Given the description of an element on the screen output the (x, y) to click on. 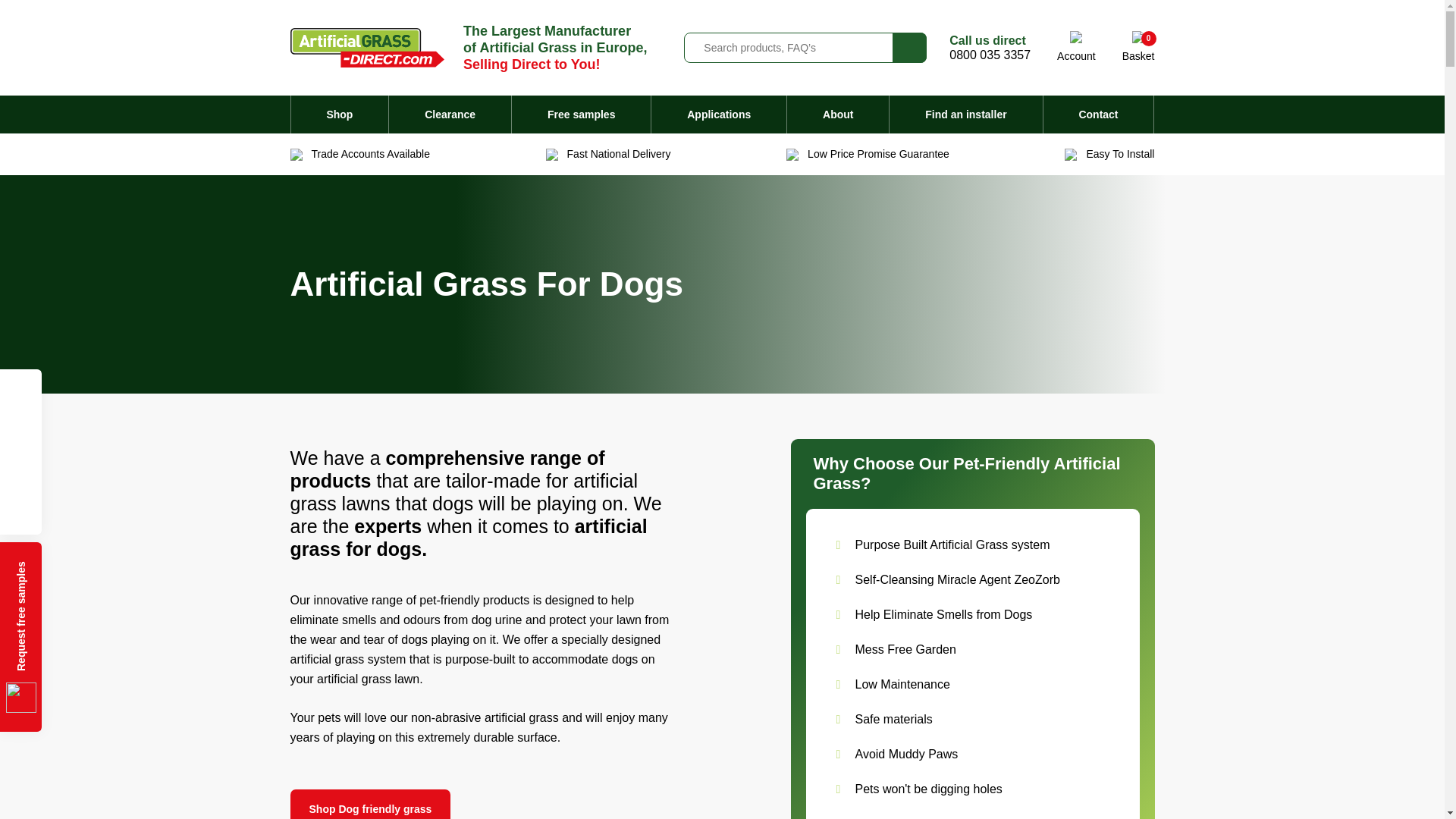
0800 035 3357 (989, 54)
Contact (1098, 114)
Find an installer (965, 114)
Clearance (1138, 47)
Shop Dog friendly grass (449, 114)
About (369, 804)
Free samples (837, 114)
Shop (581, 114)
Applications (339, 114)
